Given the description of an element on the screen output the (x, y) to click on. 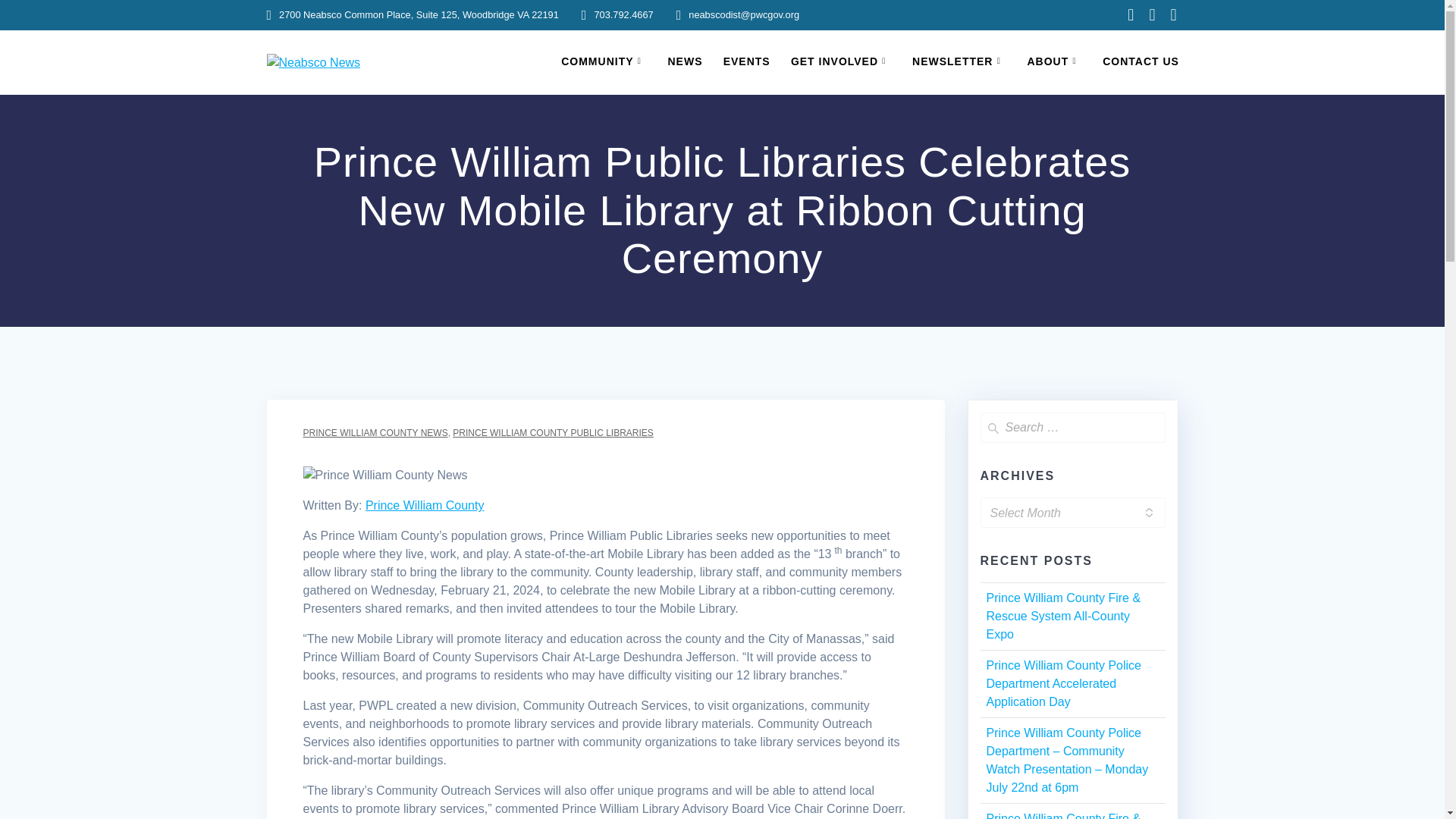
COMMUNITY (603, 62)
